Given the description of an element on the screen output the (x, y) to click on. 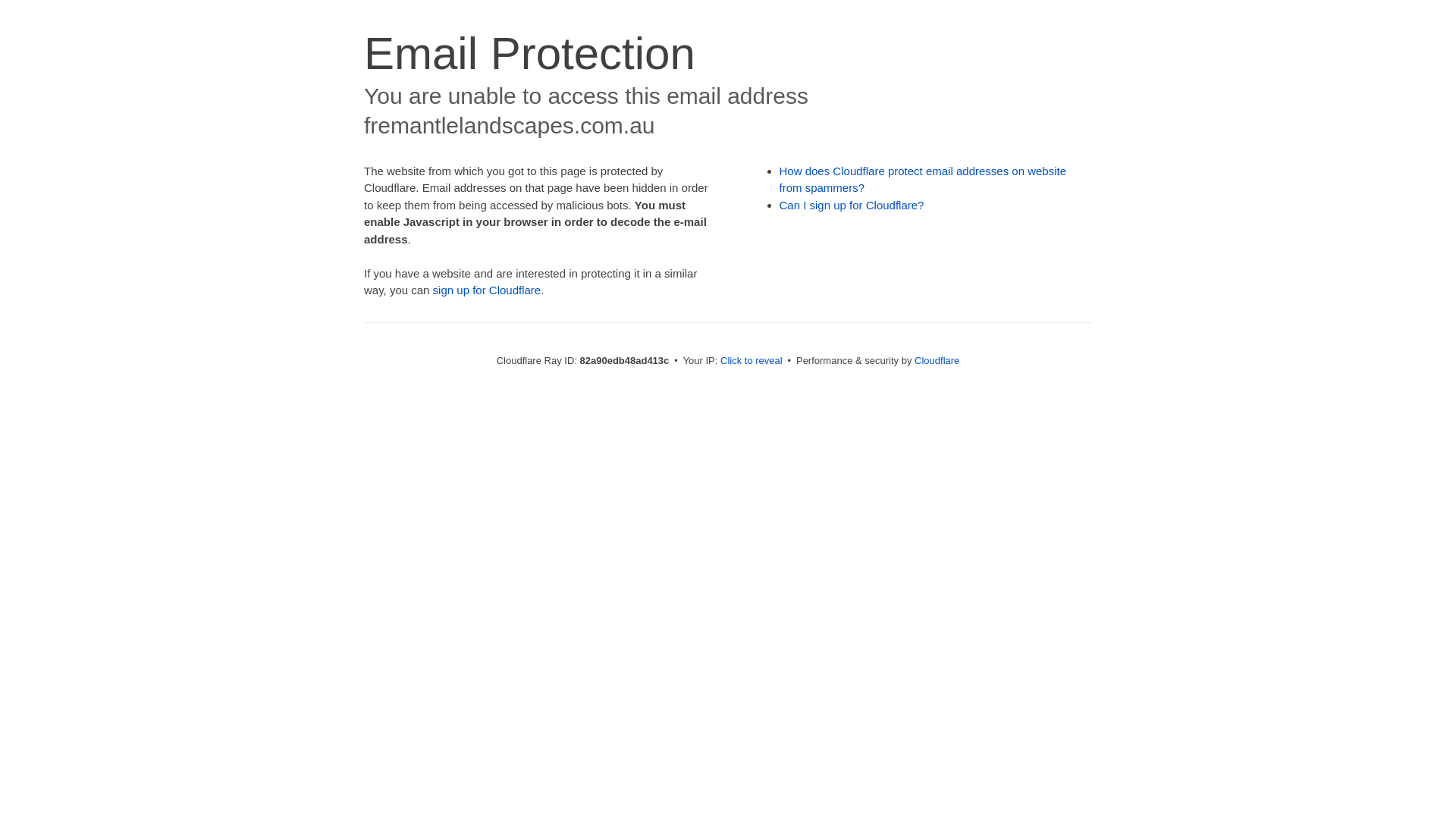
Cloudflare Element type: text (936, 360)
sign up for Cloudflare Element type: text (487, 289)
Click to reveal Element type: text (751, 360)
Can I sign up for Cloudflare? Element type: text (851, 204)
